Given the description of an element on the screen output the (x, y) to click on. 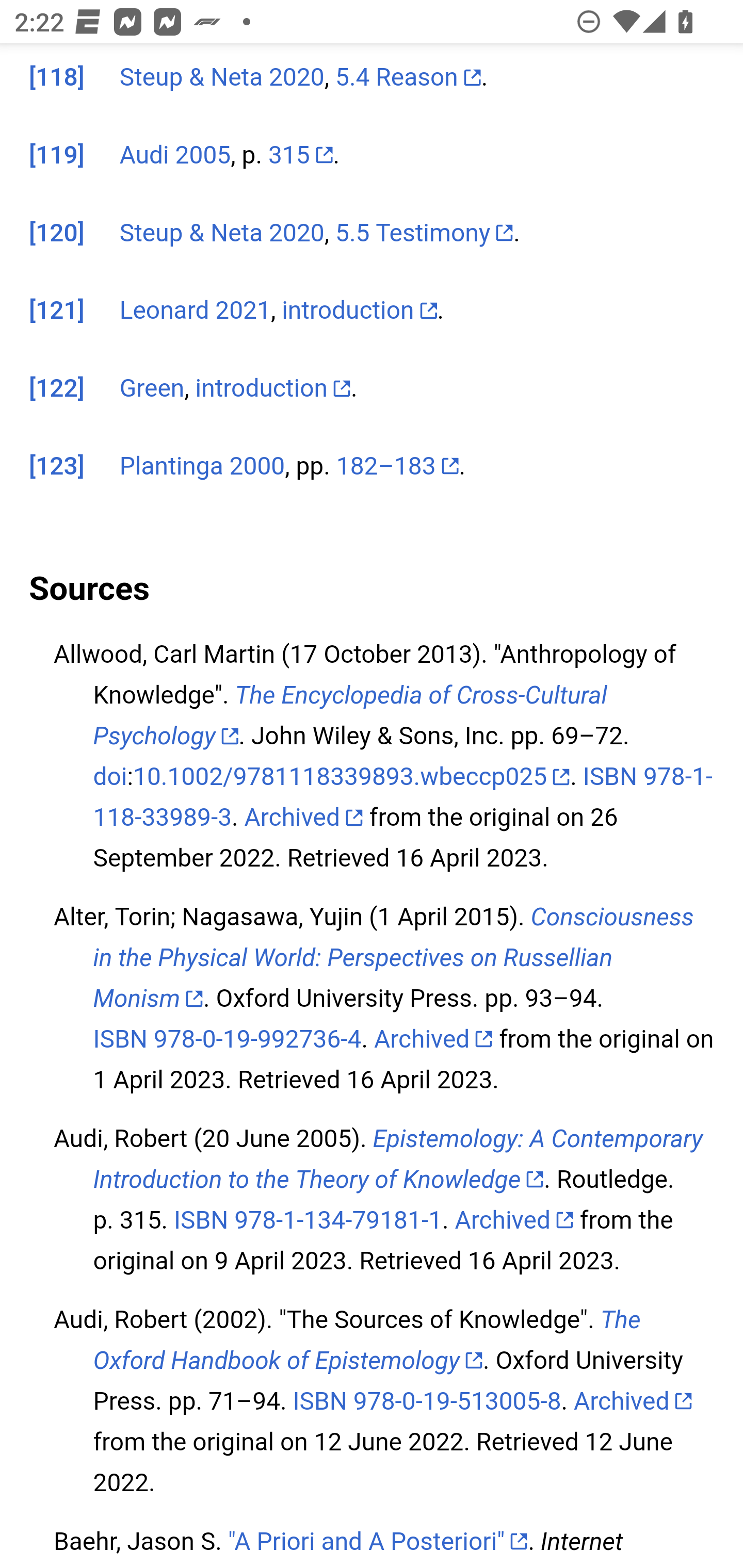
[118] (56, 78)
Steup & Neta 2020 Steup  &  Neta 2020 (221, 78)
5.4 Reason (407, 78)
[119] (56, 155)
Audi 2005 (174, 155)
315 (300, 155)
[120] (56, 233)
Steup & Neta 2020 Steup  &  Neta 2020 (221, 233)
5.5 Testimony (423, 233)
[121] (56, 312)
Leonard 2021 (194, 312)
introduction (359, 312)
[122] (56, 389)
Green (151, 389)
introduction (273, 389)
[123] (56, 467)
Plantinga 2000 (201, 467)
182–183 (397, 467)
The Encyclopedia of Cross-Cultural Psychology (350, 716)
doi (109, 778)
978-1-118-33989-3 (402, 798)
10.1002/9781118339893.wbeccp025 (350, 778)
ISBN (609, 778)
Archived (303, 818)
ISBN (119, 1040)
978-0-19-992736-4 (256, 1040)
Archived (433, 1040)
ISBN (200, 1220)
978-1-134-79181-1 (338, 1220)
Archived (513, 1220)
The Oxford Handbook of Epistemology (366, 1340)
ISBN (320, 1402)
978-0-19-513005-8 (456, 1402)
Archived (632, 1402)
"A Priori and A Posteriori" (378, 1542)
